Given the description of an element on the screen output the (x, y) to click on. 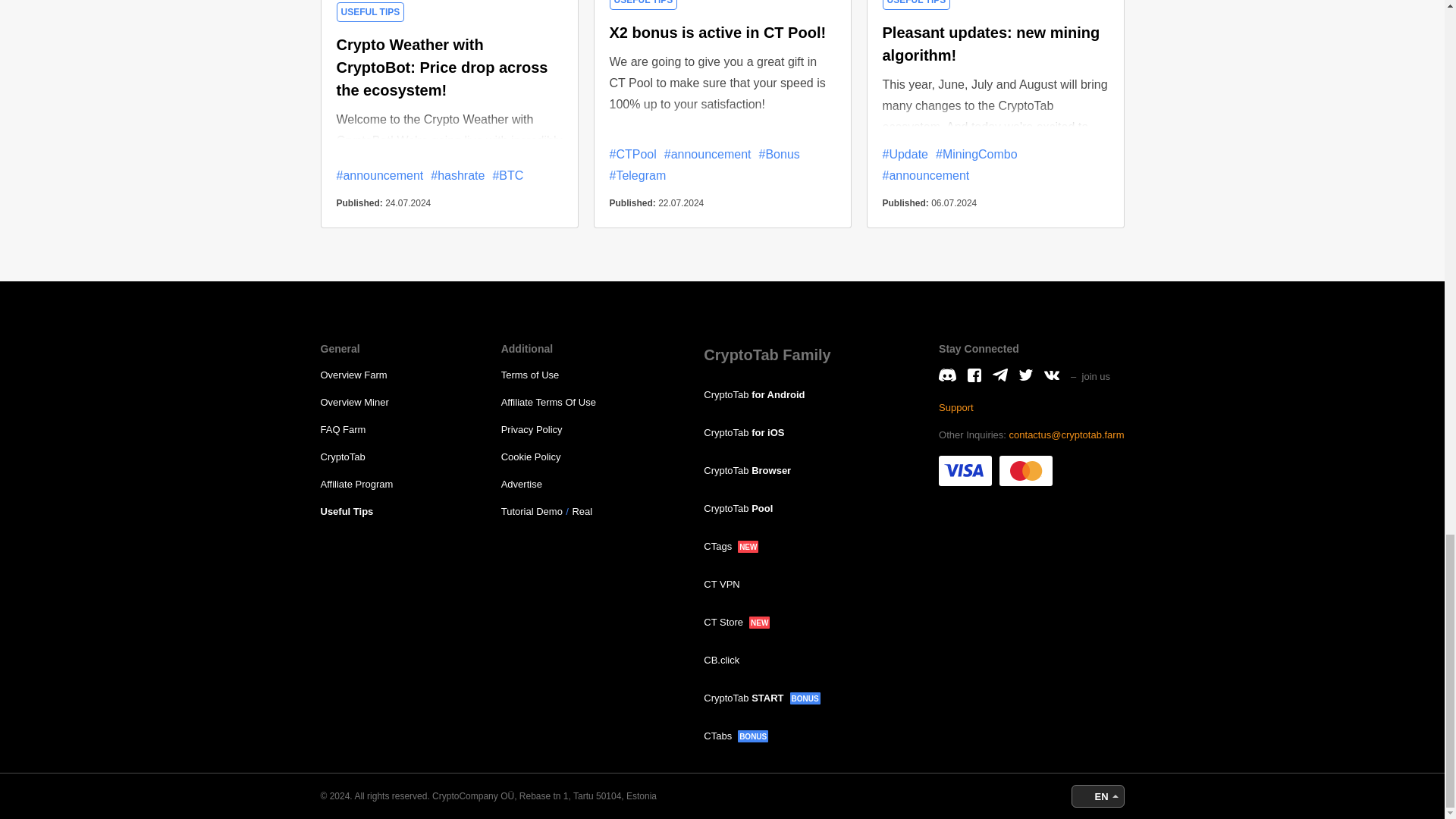
Published: 24.07.2024 (449, 211)
